Given the description of an element on the screen output the (x, y) to click on. 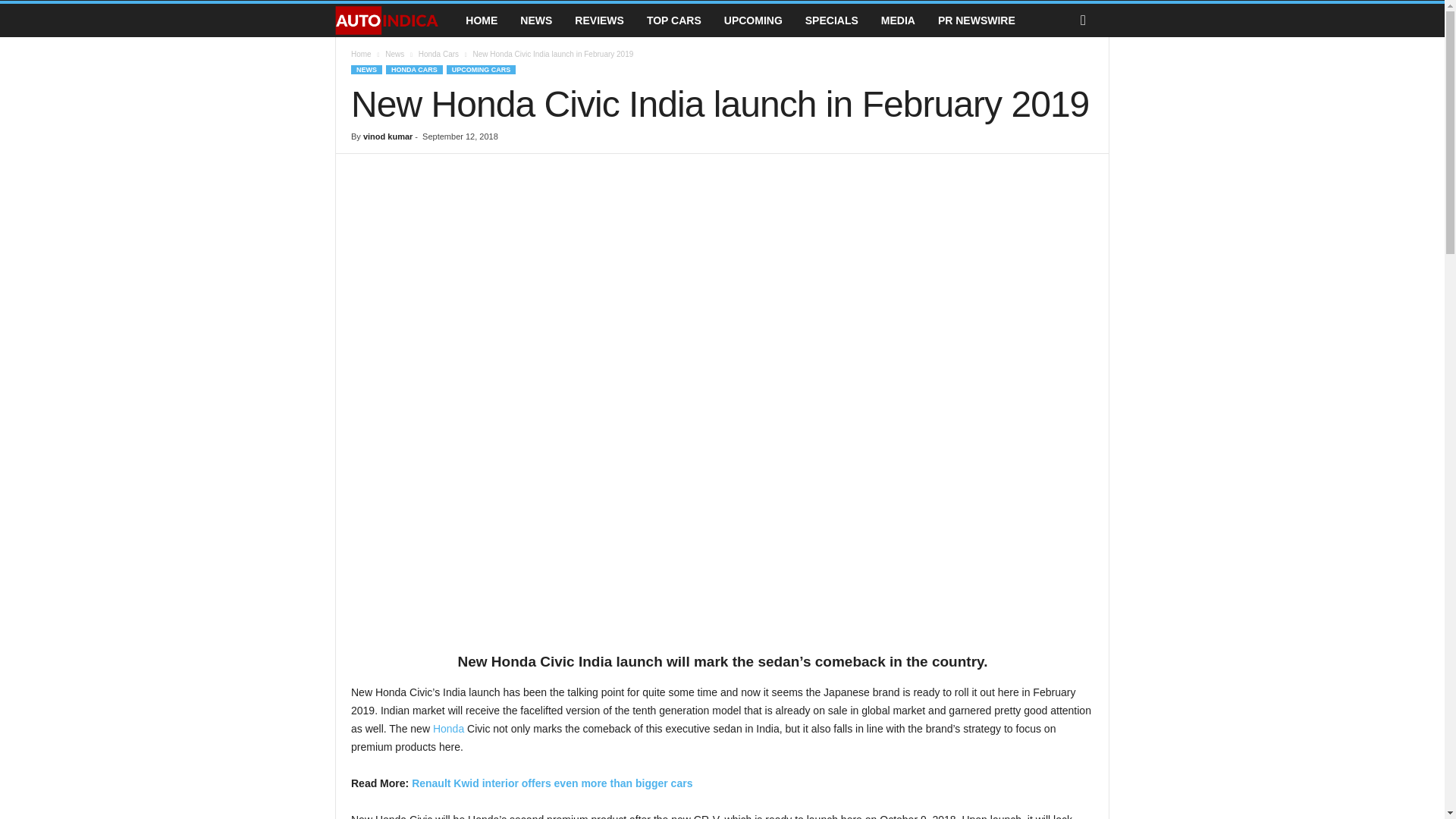
HOME (481, 20)
NEWS (535, 20)
Autoindica (394, 20)
